Given the description of an element on the screen output the (x, y) to click on. 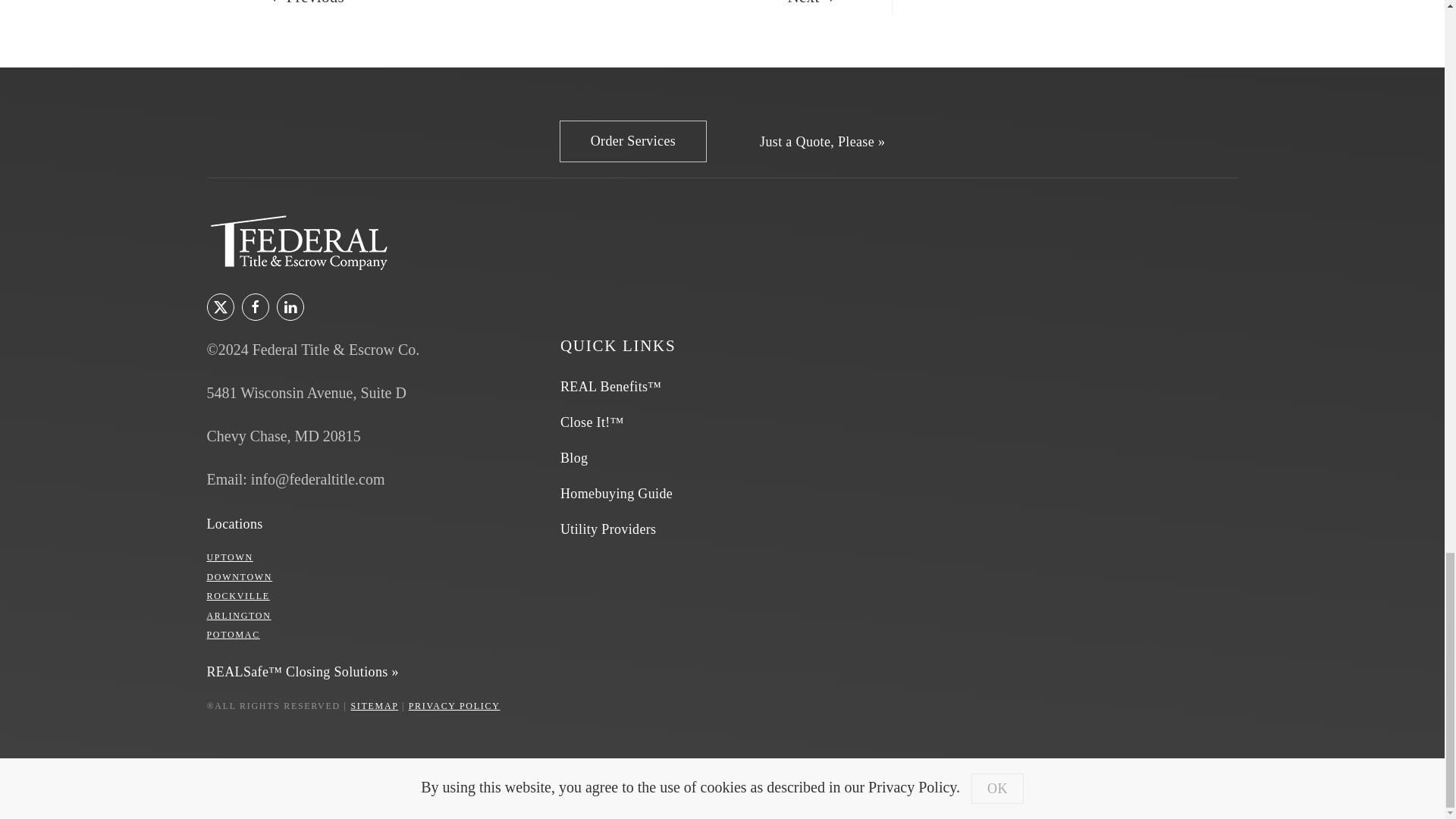
Title Insurance,  Settlement Services (632, 141)
Title Company Washington DC (228, 557)
Title Company Rockville MD (237, 595)
title company near you (234, 524)
Title Company Arlington VA (238, 615)
homebuying blog DC, MD, VA (574, 457)
homebuying DC, MD, VA (616, 493)
Title Company Potomac MD (232, 634)
utility contacts for DC, MD, VA (608, 529)
Title Company DC (239, 576)
Calculate Closing Costs (822, 141)
